Given the description of an element on the screen output the (x, y) to click on. 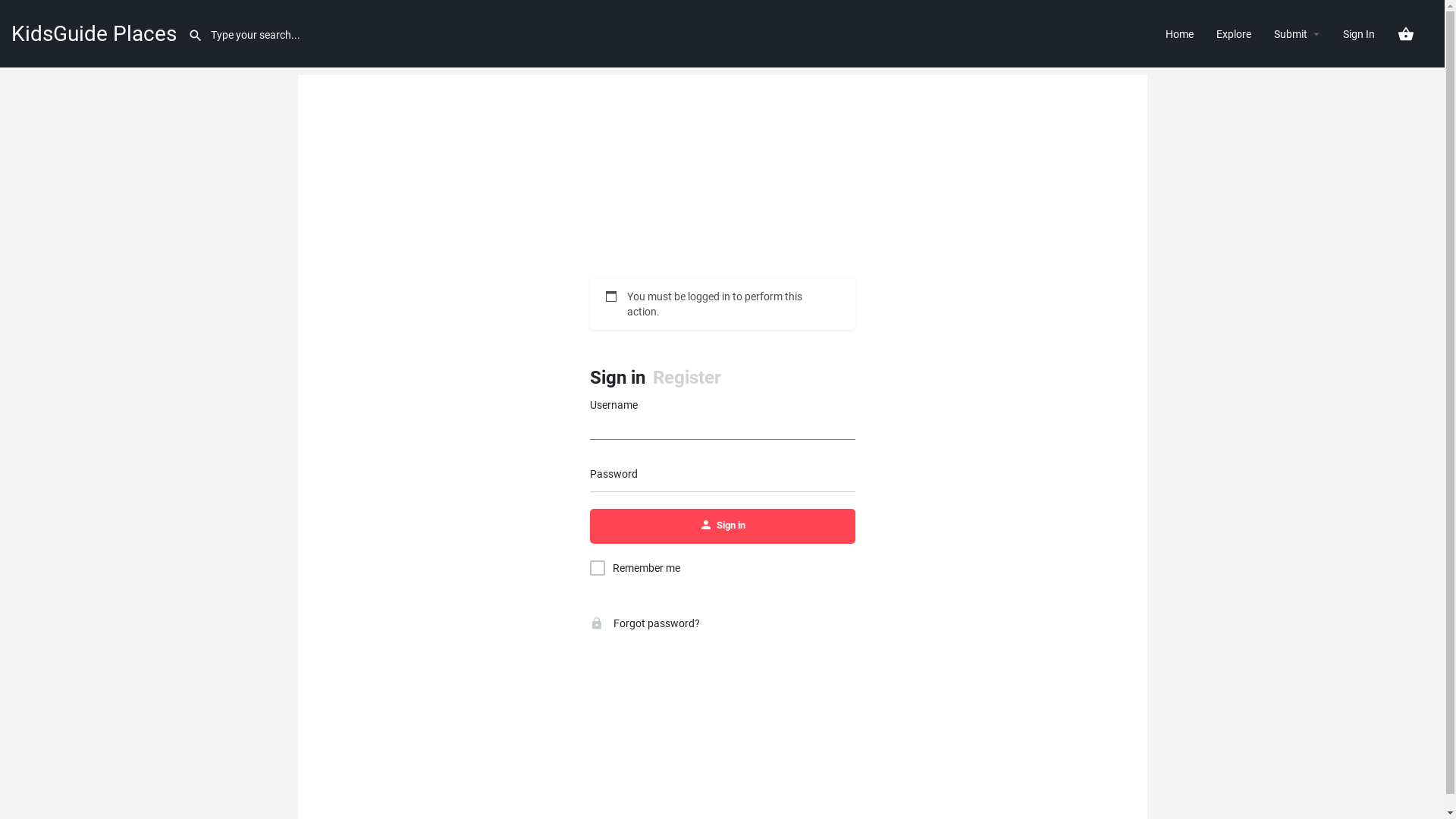
Register Element type: text (686, 377)
KidsGuide Places Element type: text (93, 33)
Sign In Element type: text (1358, 32)
View your shopping cart Element type: hover (1405, 33)
Sign in Element type: text (722, 525)
Home Element type: text (1179, 32)
Submit Element type: text (1290, 32)
Forgot password? Element type: text (644, 623)
Sign in Element type: text (617, 377)
Explore Element type: text (1233, 32)
